Given the description of an element on the screen output the (x, y) to click on. 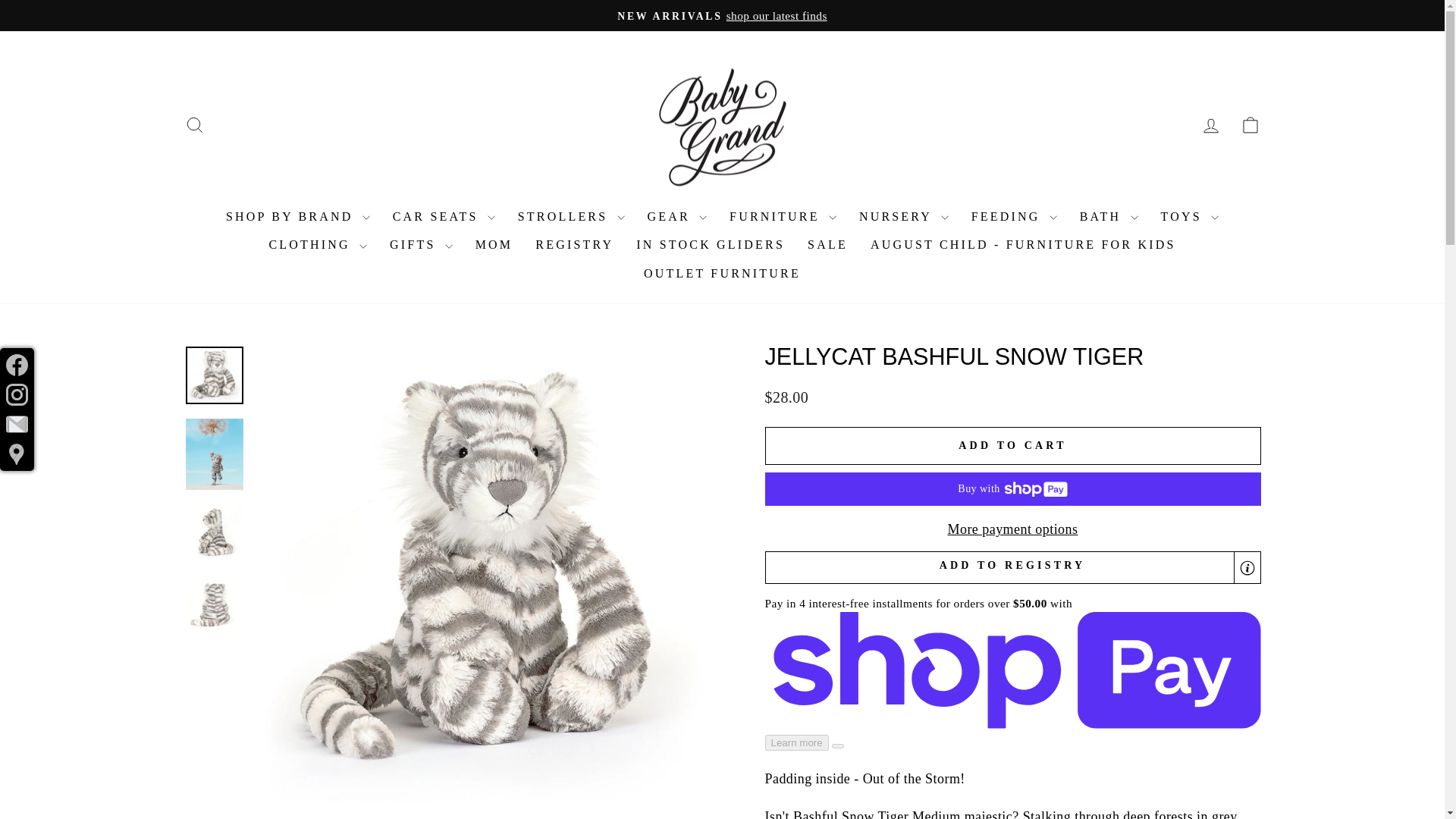
NEW ARRIVALSshop our latest finds (722, 15)
ICON-SEARCH (194, 124)
ACCOUNT (1210, 125)
ICON-BAG-MINIMAL (1249, 124)
